Given the description of an element on the screen output the (x, y) to click on. 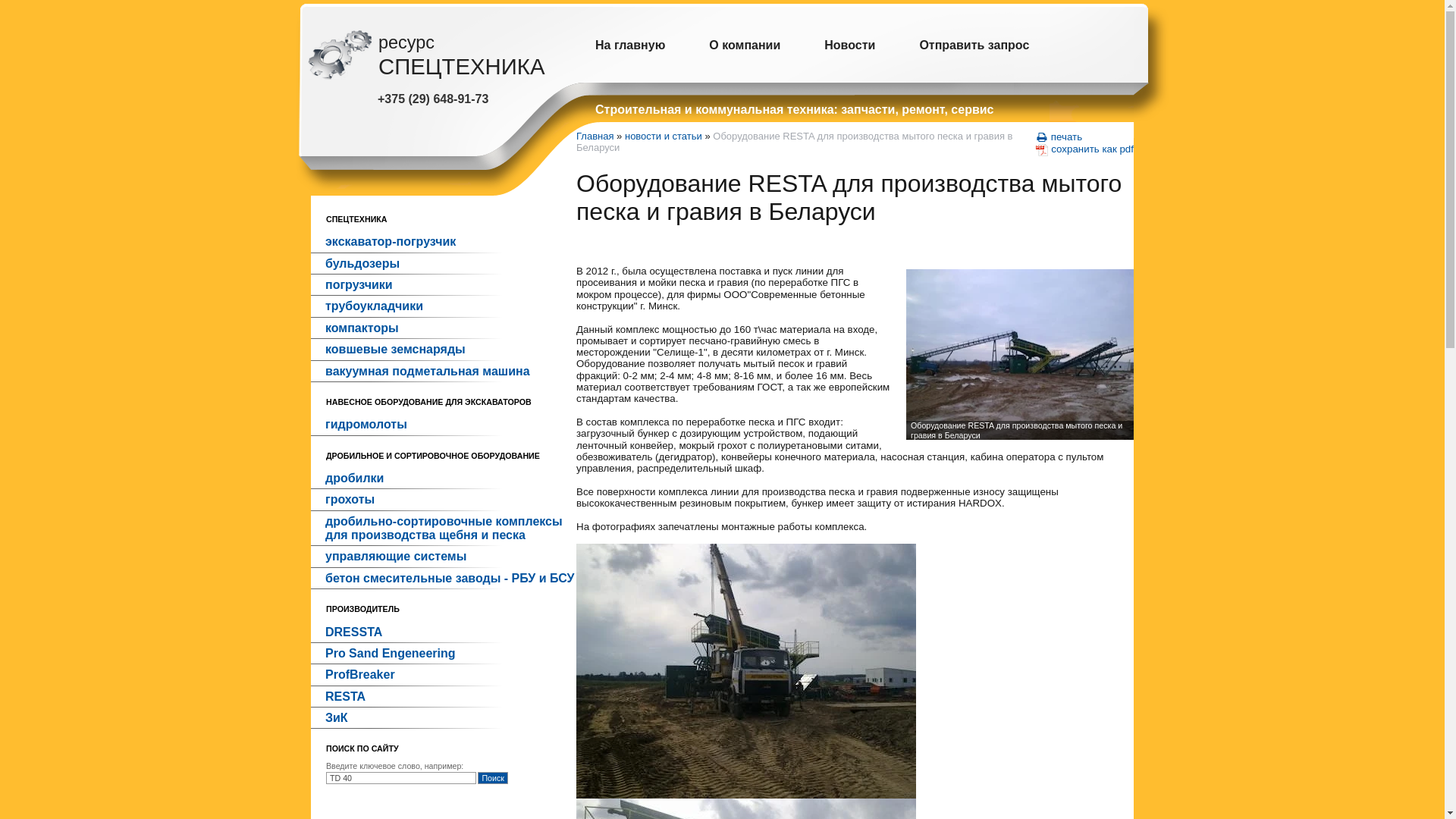
ProfBreaker Element type: text (443, 674)
DRESSTA Element type: text (443, 632)
RESTA Element type: text (443, 696)
Pro Sand Engeneering Element type: text (443, 653)
